Given the description of an element on the screen output the (x, y) to click on. 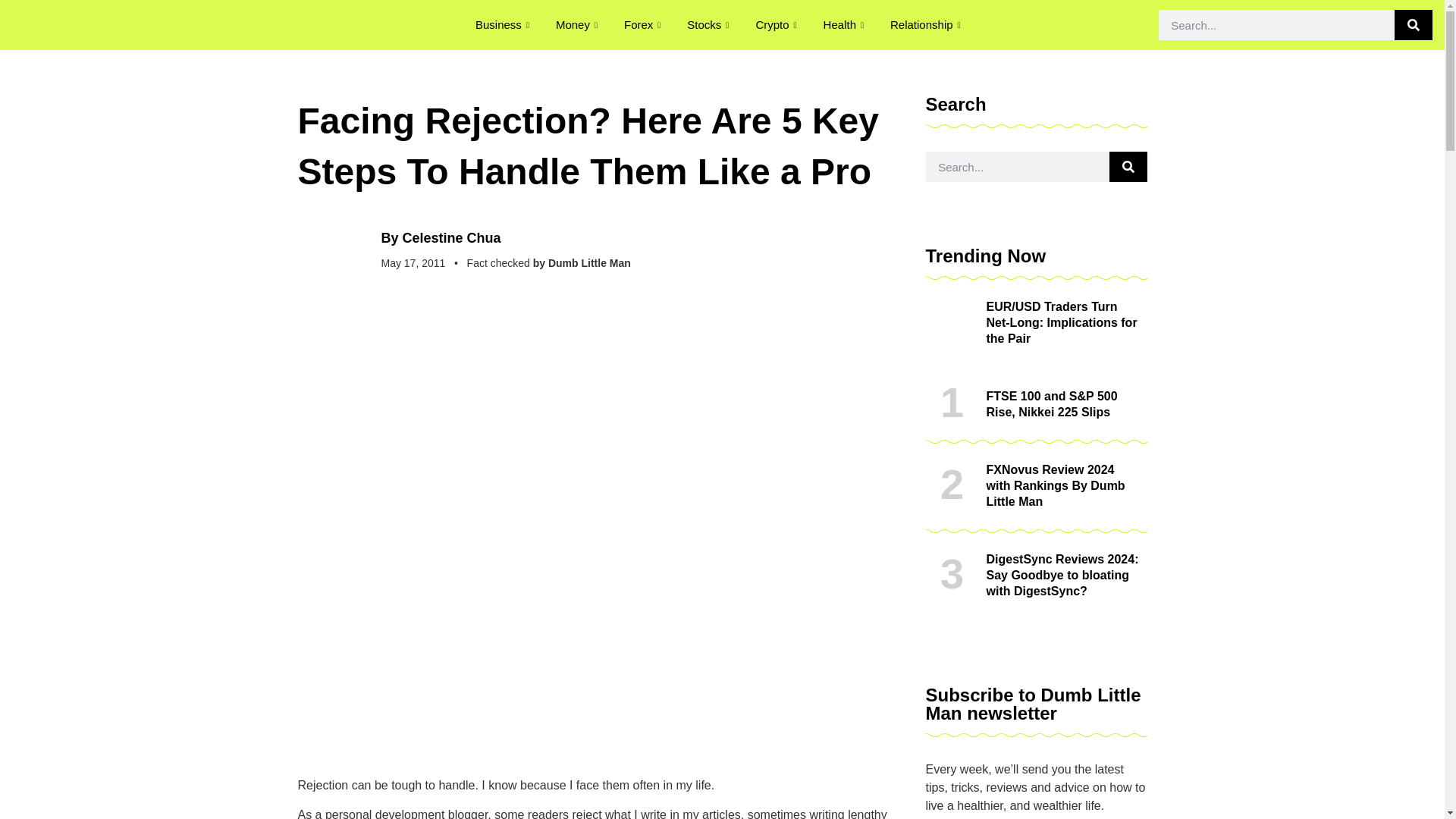
Business (504, 24)
